Given the description of an element on the screen output the (x, y) to click on. 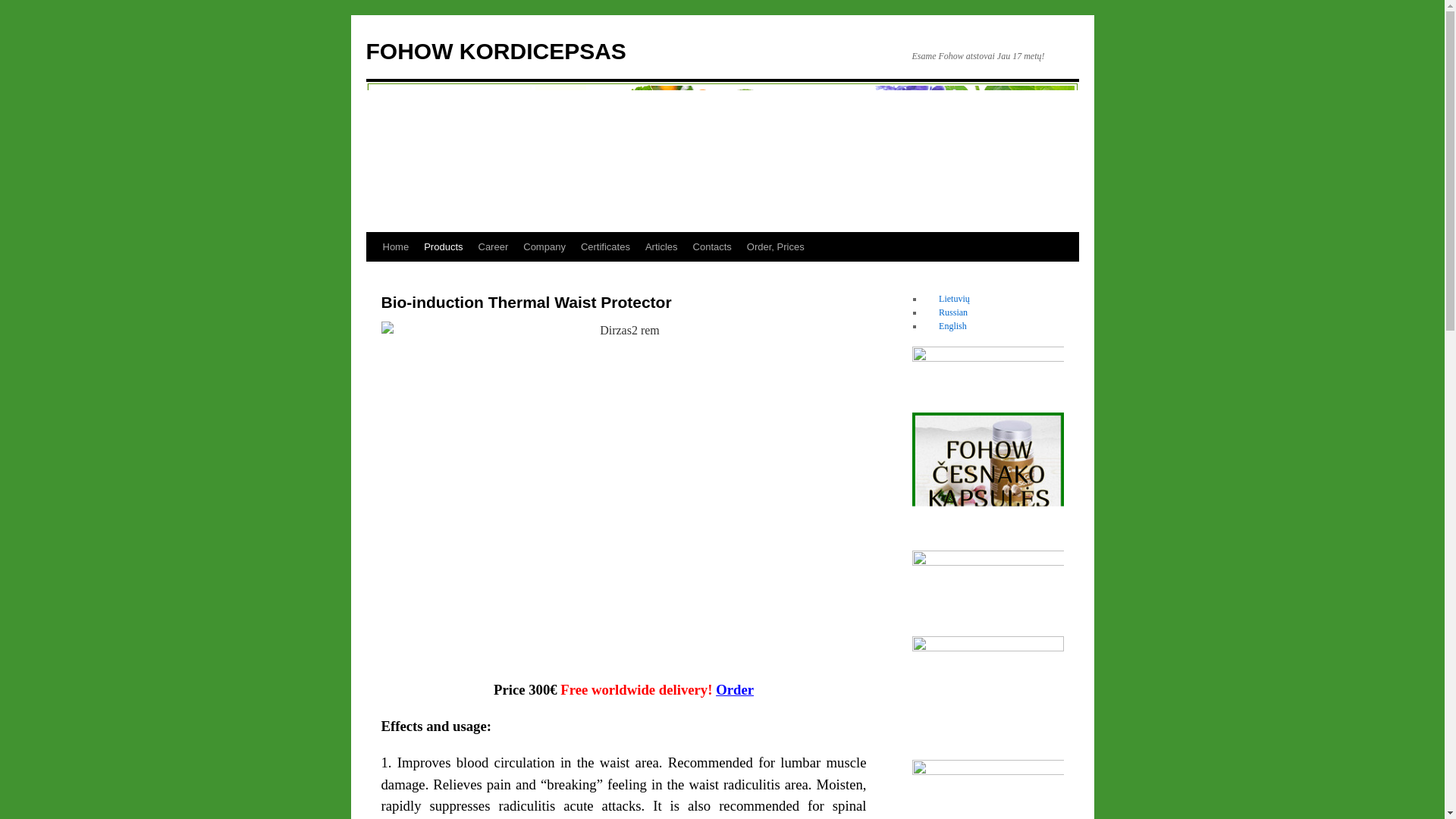
Home (395, 246)
English (944, 326)
FOHOW KORDICEPSAS (495, 50)
Russian (945, 312)
Products (443, 246)
Fohow serumas (986, 693)
Facebook Fohow (986, 784)
Fohow YouTube (986, 370)
